Given the description of an element on the screen output the (x, y) to click on. 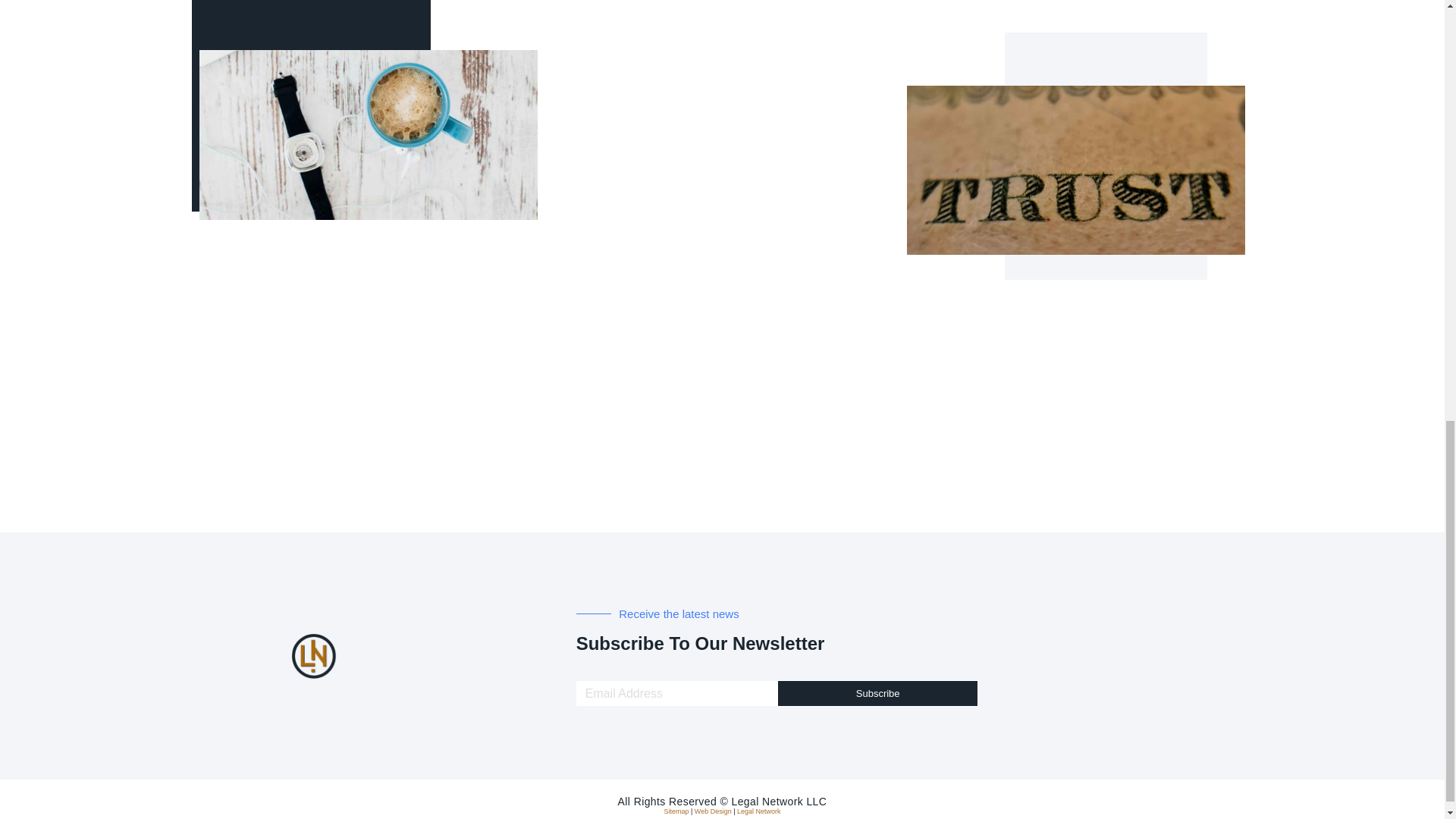
Legal Network LLC (778, 801)
Web Design (713, 810)
Sitemap (675, 810)
Legal Network (758, 810)
Subscribe (877, 693)
